Given the description of an element on the screen output the (x, y) to click on. 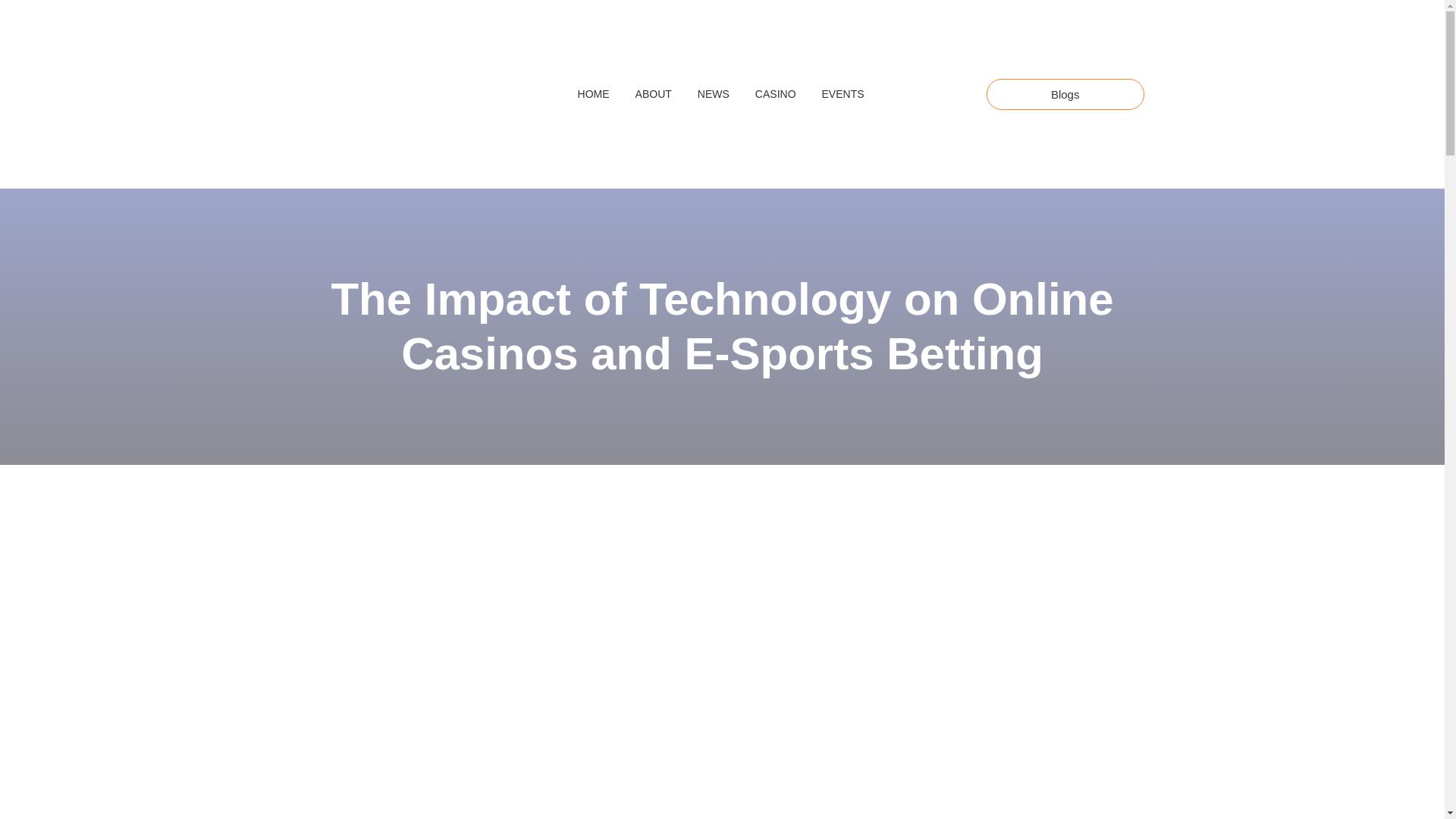
HOME (593, 93)
Blogs (1065, 93)
CASINO (775, 93)
NEWS (714, 93)
ABOUT (653, 93)
EVENTS (842, 93)
